Given the description of an element on the screen output the (x, y) to click on. 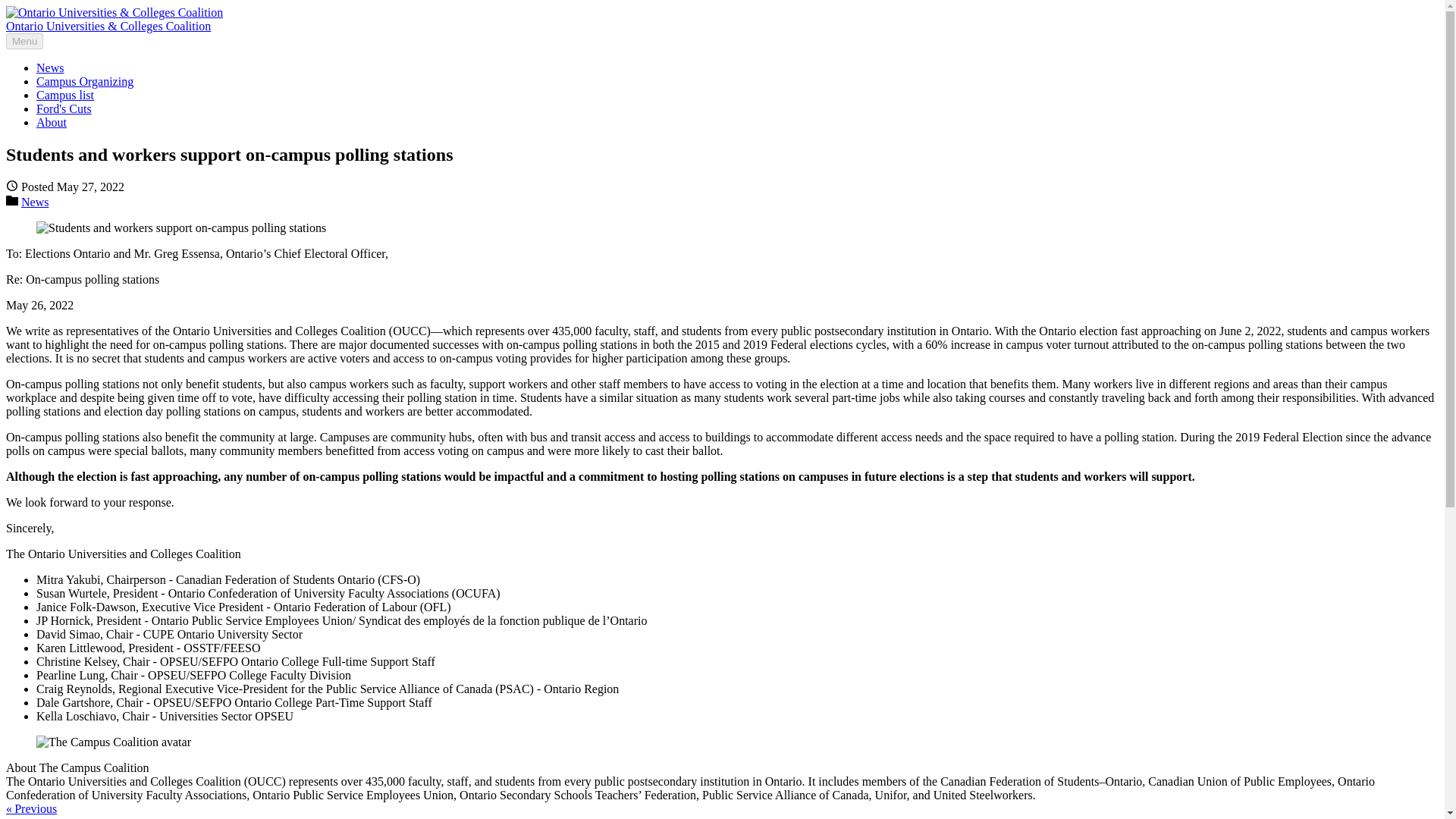
Menu (24, 41)
News (50, 67)
Campus list (65, 94)
News (34, 201)
Campus Organizing (84, 81)
Ford's Cuts (63, 108)
About (51, 122)
